Given the description of an element on the screen output the (x, y) to click on. 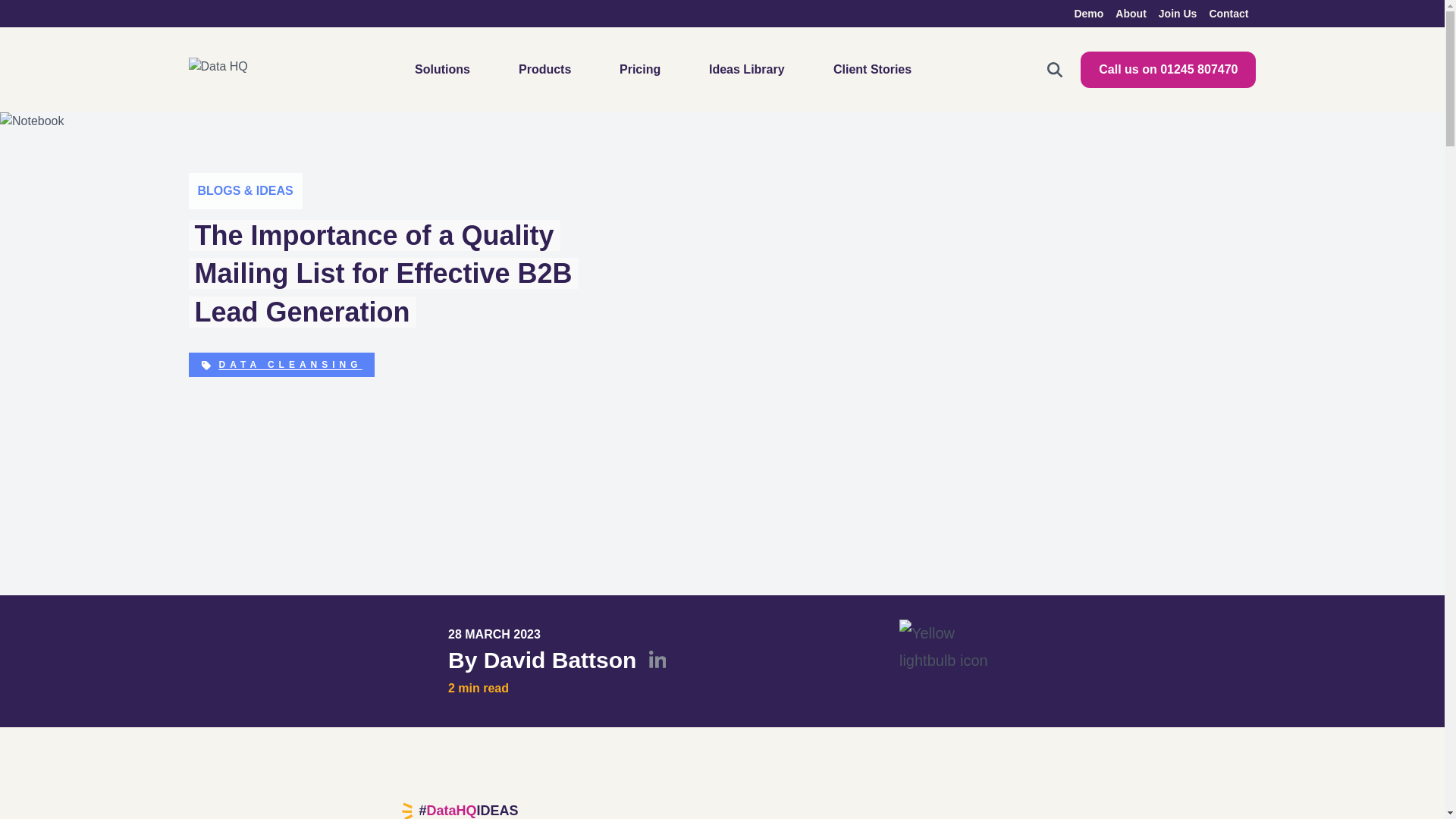
About (1130, 13)
Pricing (640, 69)
By David Battson (556, 661)
Client Stories (871, 69)
Ideas Library (746, 69)
Demo (1088, 13)
Return to homepage (232, 69)
Call us on 01245 807470 (1167, 69)
Contact (1227, 13)
Products (544, 69)
